Given the description of an element on the screen output the (x, y) to click on. 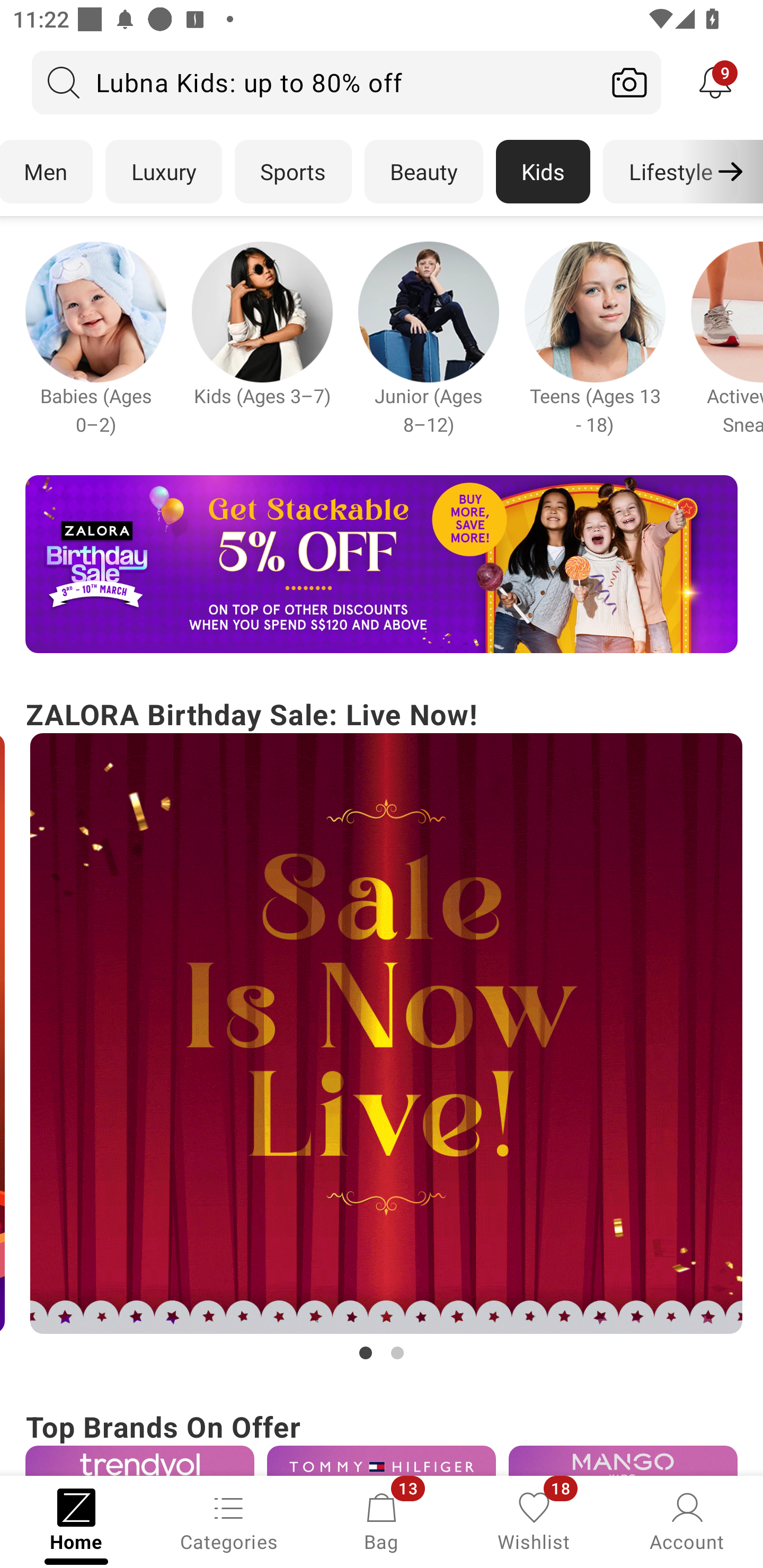
Lubna Kids: up to 80% off (314, 82)
Men (46, 171)
Luxury (163, 171)
Sports (293, 171)
Beauty (423, 171)
Kids (542, 171)
Lifestyle (669, 171)
Campaign banner (95, 311)
Campaign banner (261, 311)
Campaign banner (428, 311)
Campaign banner (594, 311)
Campaign banner (381, 564)
ZALORA Birthday Sale: Live Now! Campaign banner (381, 1028)
Campaign banner (381, 1033)
Campaign banner (139, 1460)
Campaign banner (381, 1460)
Campaign banner (622, 1460)
Categories (228, 1519)
Bag, 13 new notifications Bag (381, 1519)
Wishlist, 18 new notifications Wishlist (533, 1519)
Account (686, 1519)
